Given the description of an element on the screen output the (x, y) to click on. 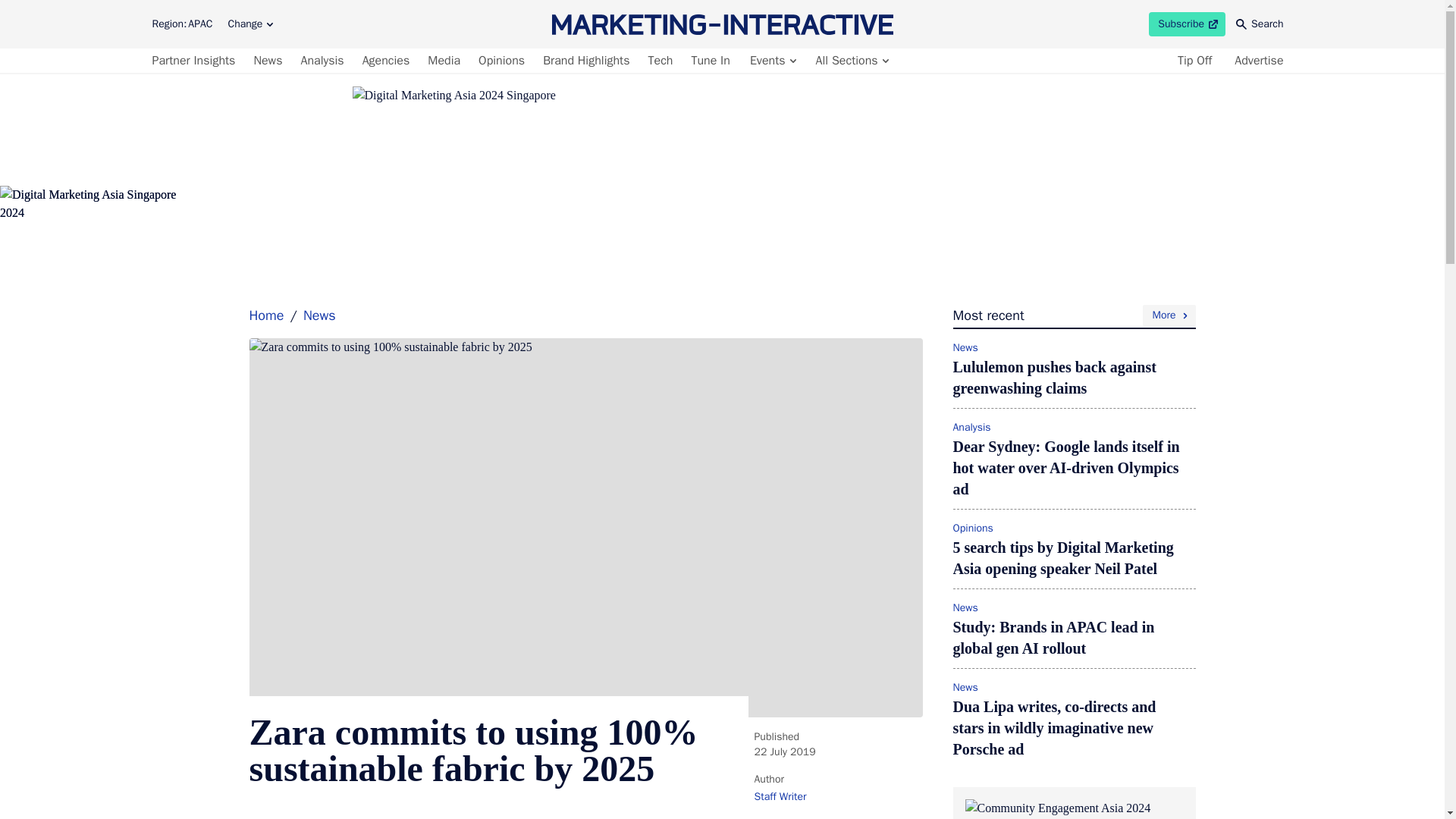
News (267, 60)
All Sections (851, 60)
Brand Highlights (585, 60)
Analysis (321, 60)
Opinions (501, 60)
Partner Insights (195, 60)
Tune In (709, 60)
Search (1260, 24)
Change (250, 24)
Agencies (386, 60)
Tech (660, 60)
Events (1186, 24)
Media (772, 60)
